Given the description of an element on the screen output the (x, y) to click on. 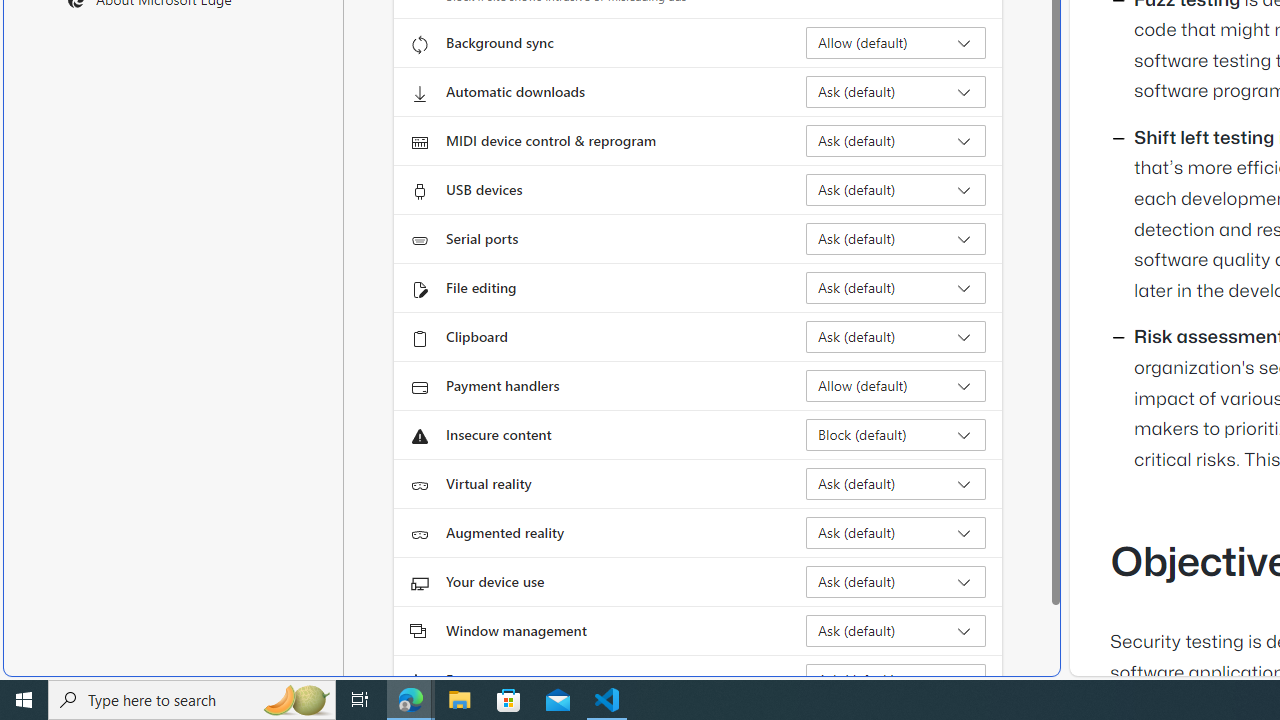
USB devices Ask (default) (895, 189)
Fonts Ask (default) (895, 679)
Serial ports Ask (default) (895, 238)
Clipboard Ask (default) (895, 336)
File editing Ask (default) (895, 287)
Automatic downloads Ask (default) (895, 92)
Payment handlers Allow (default) (895, 385)
Virtual reality Ask (default) (895, 483)
Augmented reality Ask (default) (895, 532)
Your device use Ask (default) (895, 581)
Window management Ask (default) (895, 630)
Insecure content Block (default) (895, 434)
Background sync Allow (default) (895, 43)
MIDI device control & reprogram Ask (default) (895, 140)
